Given the description of an element on the screen output the (x, y) to click on. 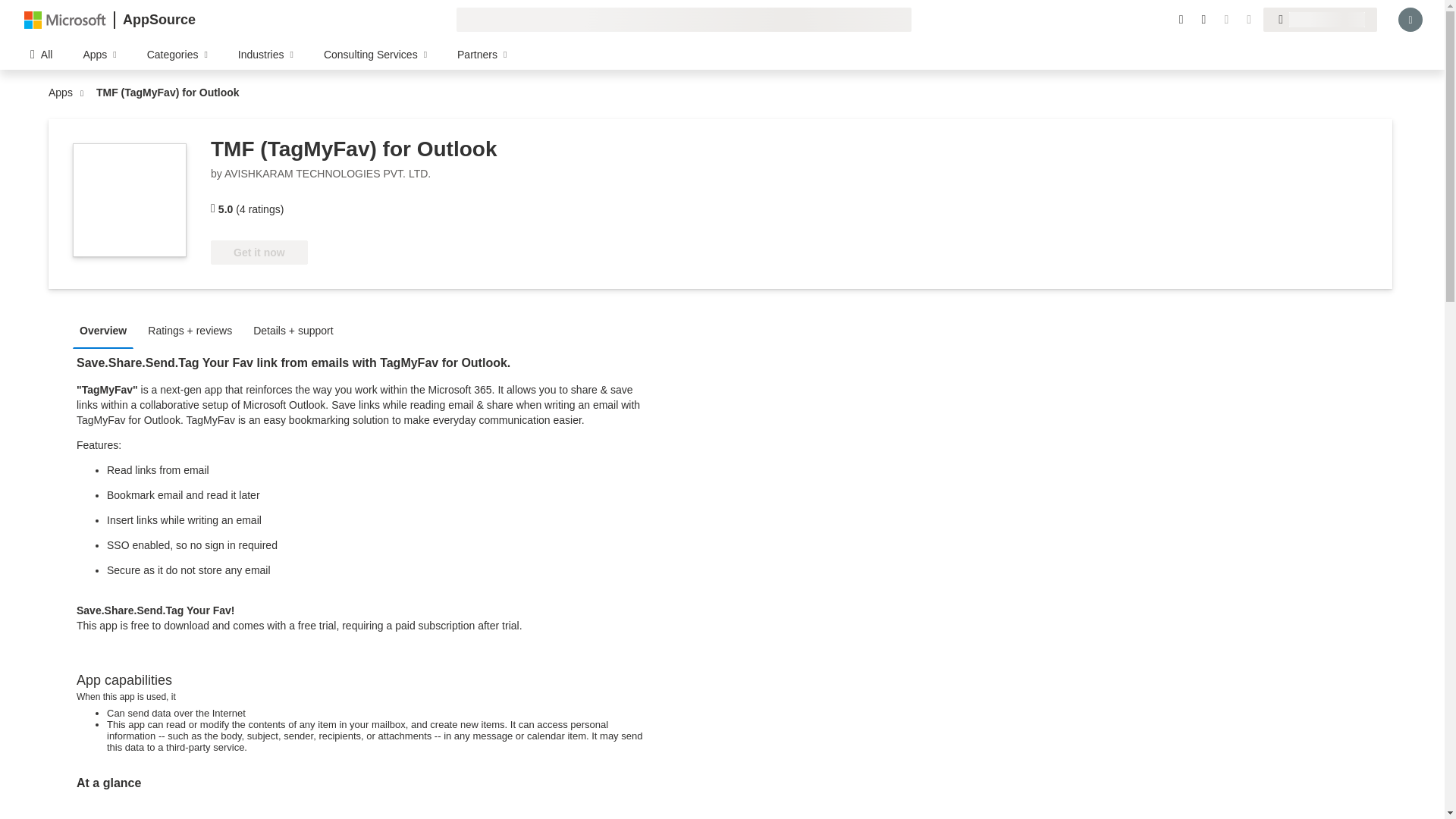
Get it now (259, 252)
Overview (106, 329)
Microsoft (65, 18)
AppSource (158, 19)
Apps (64, 92)
